Given the description of an element on the screen output the (x, y) to click on. 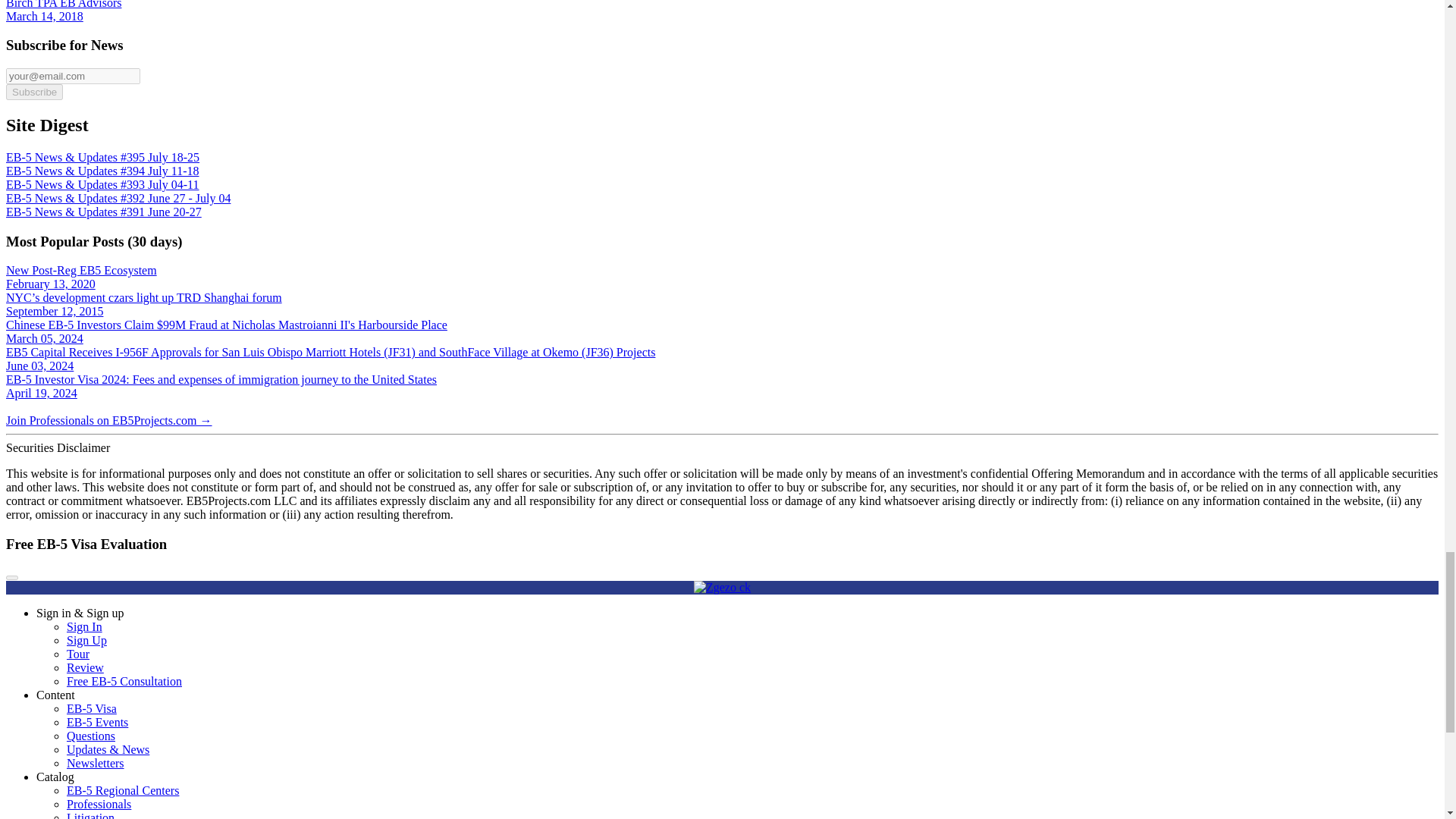
Subscribe (33, 91)
